Given the description of an element on the screen output the (x, y) to click on. 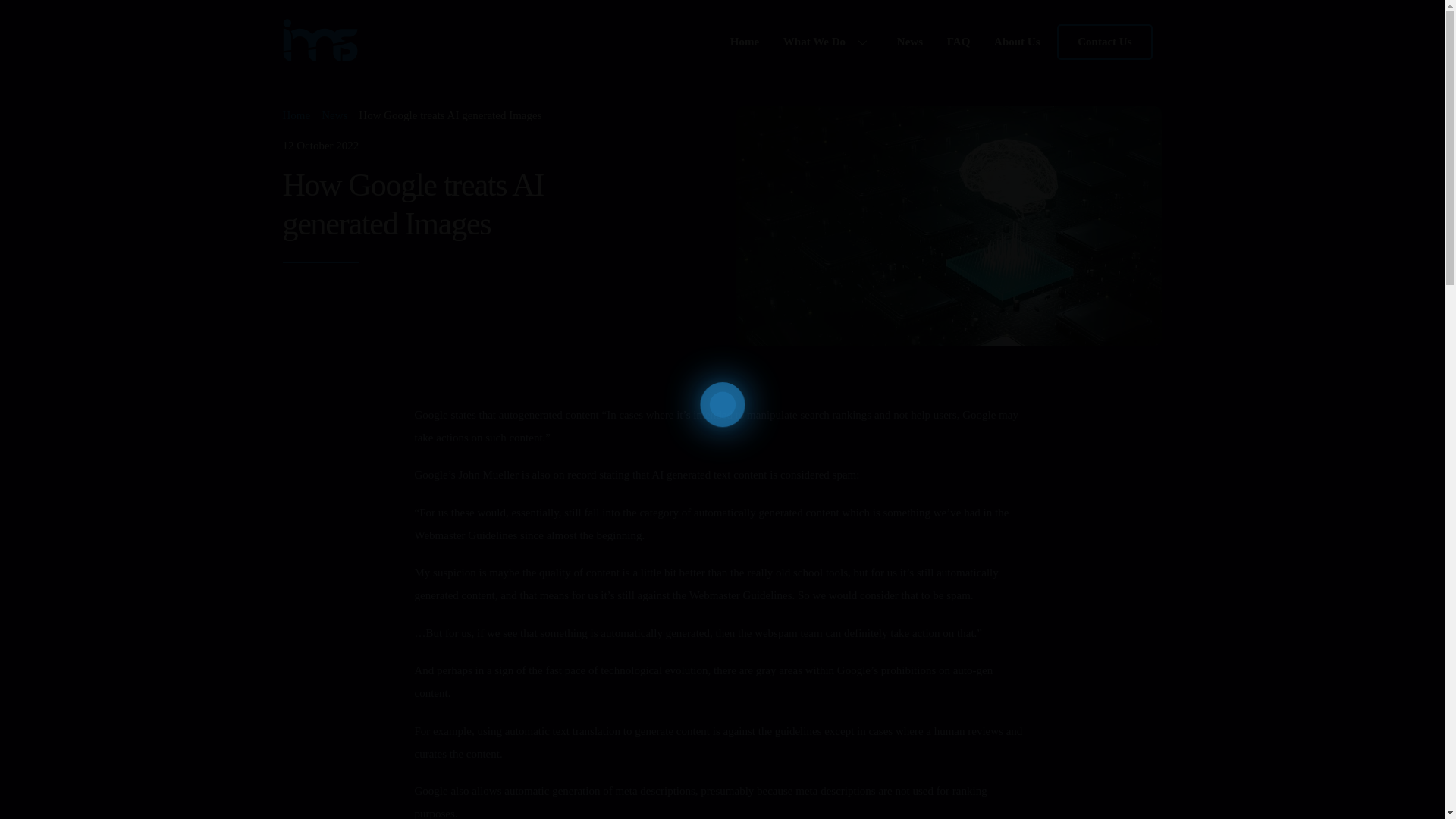
Contact Us (1104, 41)
IMS - Creative Ad Agency (320, 55)
News (909, 41)
Home (744, 41)
Home (296, 114)
FAQ (721, 41)
News (958, 41)
Digital brain rising from chip (334, 114)
About Us (948, 225)
